Given the description of an element on the screen output the (x, y) to click on. 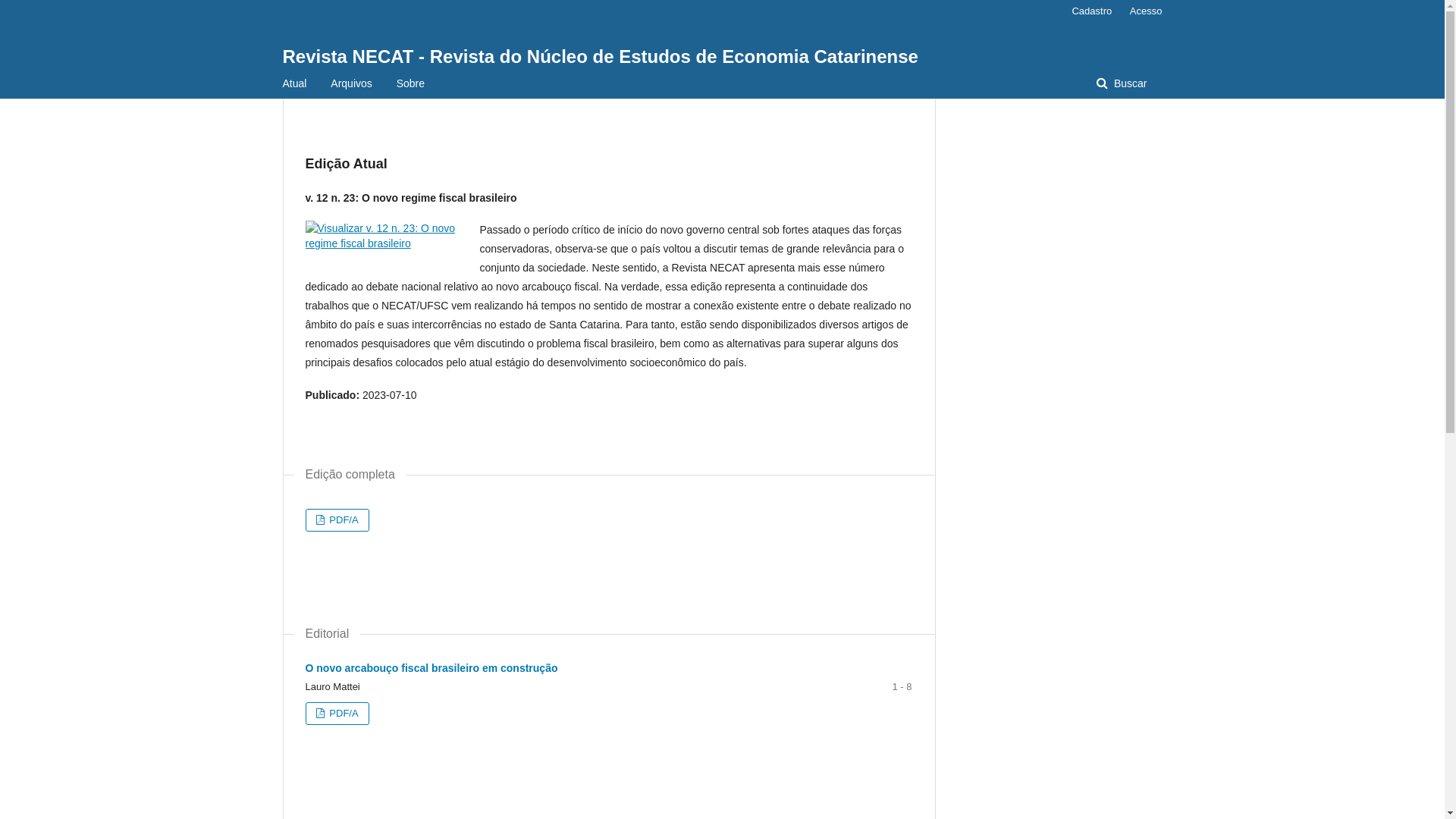
Cadastro Element type: text (1091, 11)
PDF/A Element type: text (336, 519)
PDF/A Element type: text (336, 713)
Arquivos Element type: text (350, 83)
Buscar Element type: text (1121, 83)
Atual Element type: text (294, 83)
Acesso Element type: text (1142, 11)
Sobre Element type: text (410, 83)
